Given the description of an element on the screen output the (x, y) to click on. 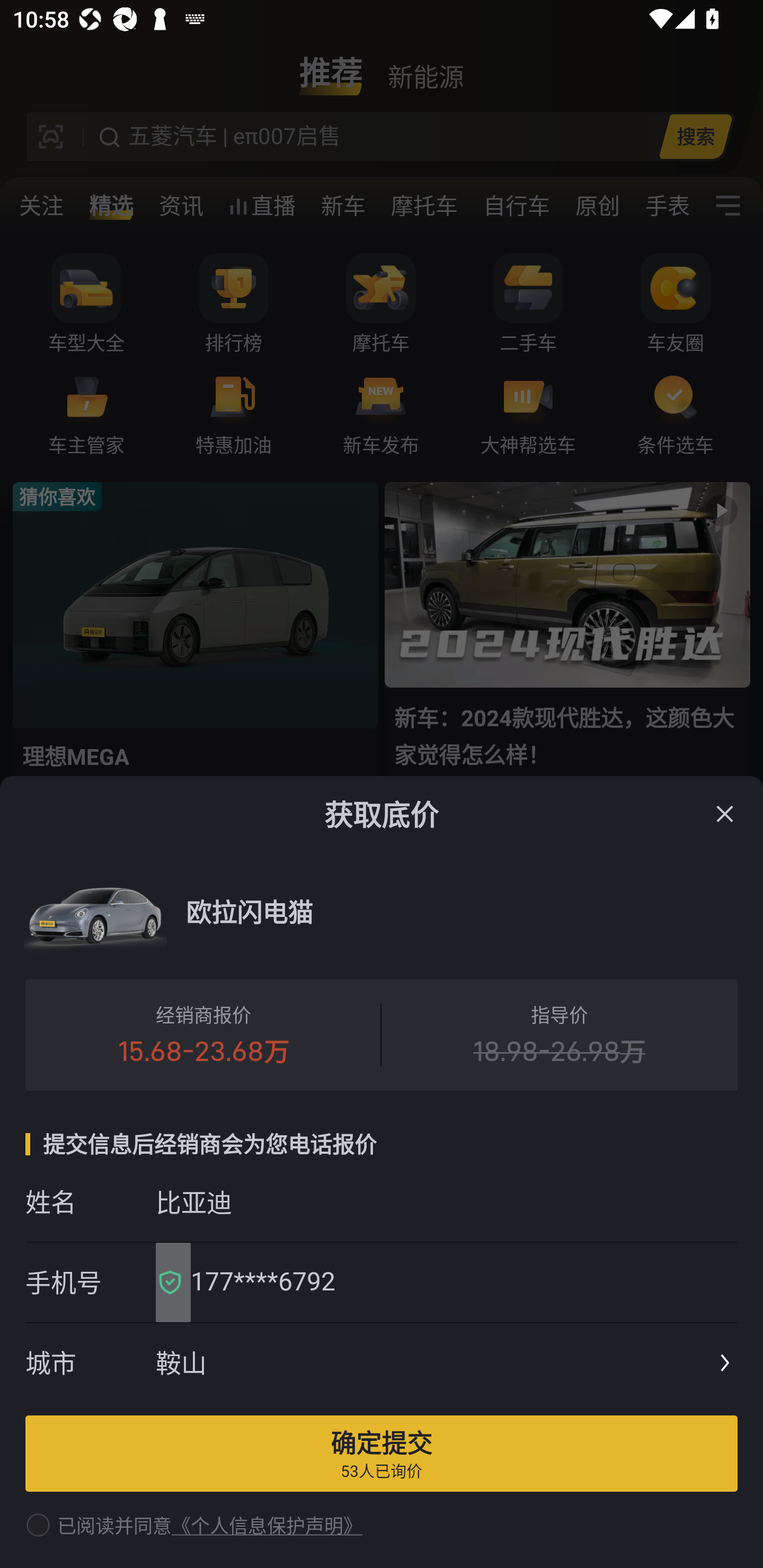
 (724, 813)
姓名 (90, 1201)
比亚迪 (446, 1201)
手机号 (90, 1282)
177****6792 (457, 1282)
城市 鞍山  (381, 1363)
确定提交 53人已询价 (381, 1453)
